Given the description of an element on the screen output the (x, y) to click on. 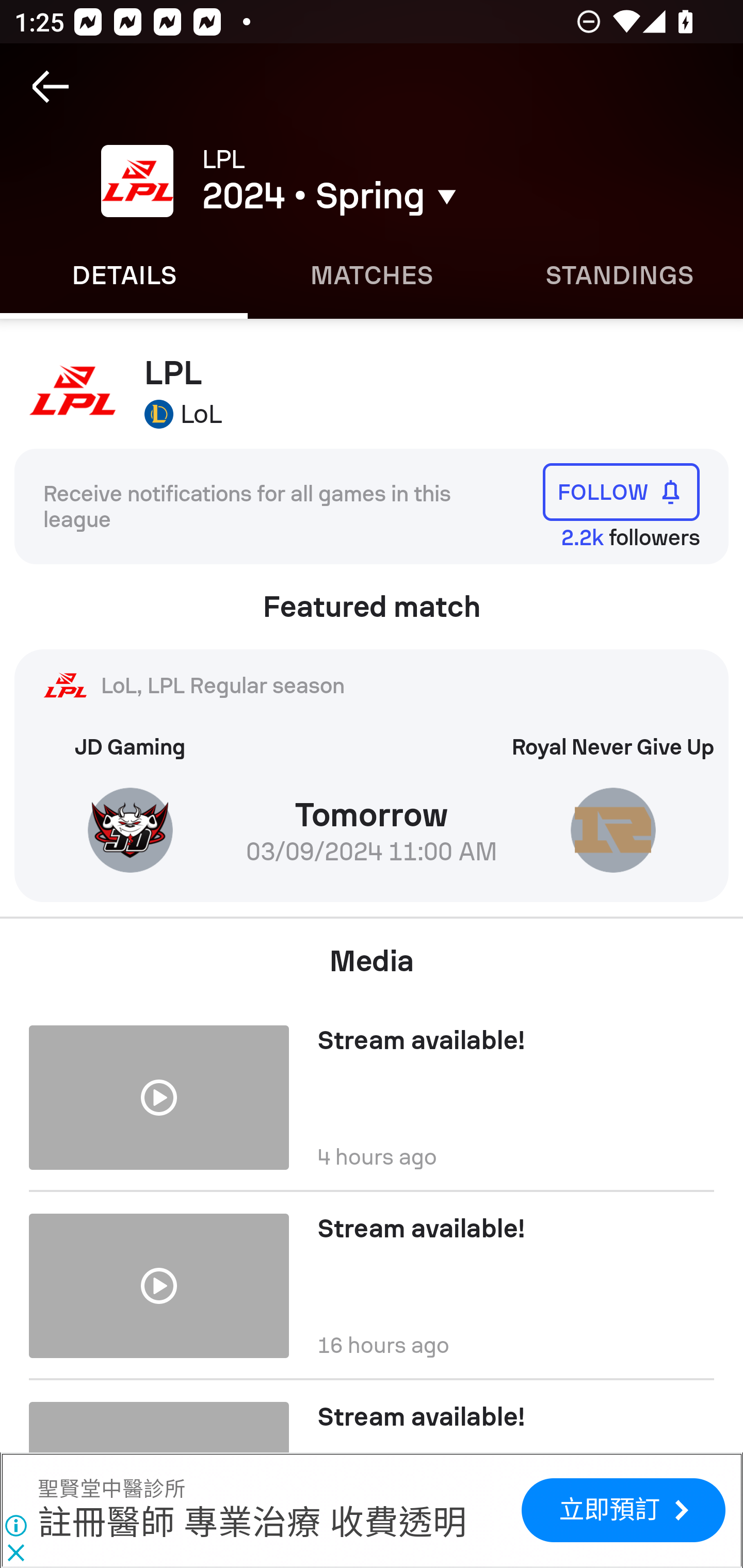
Navigate up (50, 86)
LPL 2024 • Spring (407, 181)
Matches MATCHES (371, 275)
Standings STANDINGS (619, 275)
FOLLOW (621, 491)
picture Stream available! picture 4 hours ago (371, 1090)
picture Stream available! picture 16 hours ago (371, 1285)
picture Stream available! (371, 1415)
聖賢堂中醫診所 (111, 1489)
立即預訂 (623, 1510)
註冊醫師 專業治療 收費透明 (252, 1523)
